Given the description of an element on the screen output the (x, y) to click on. 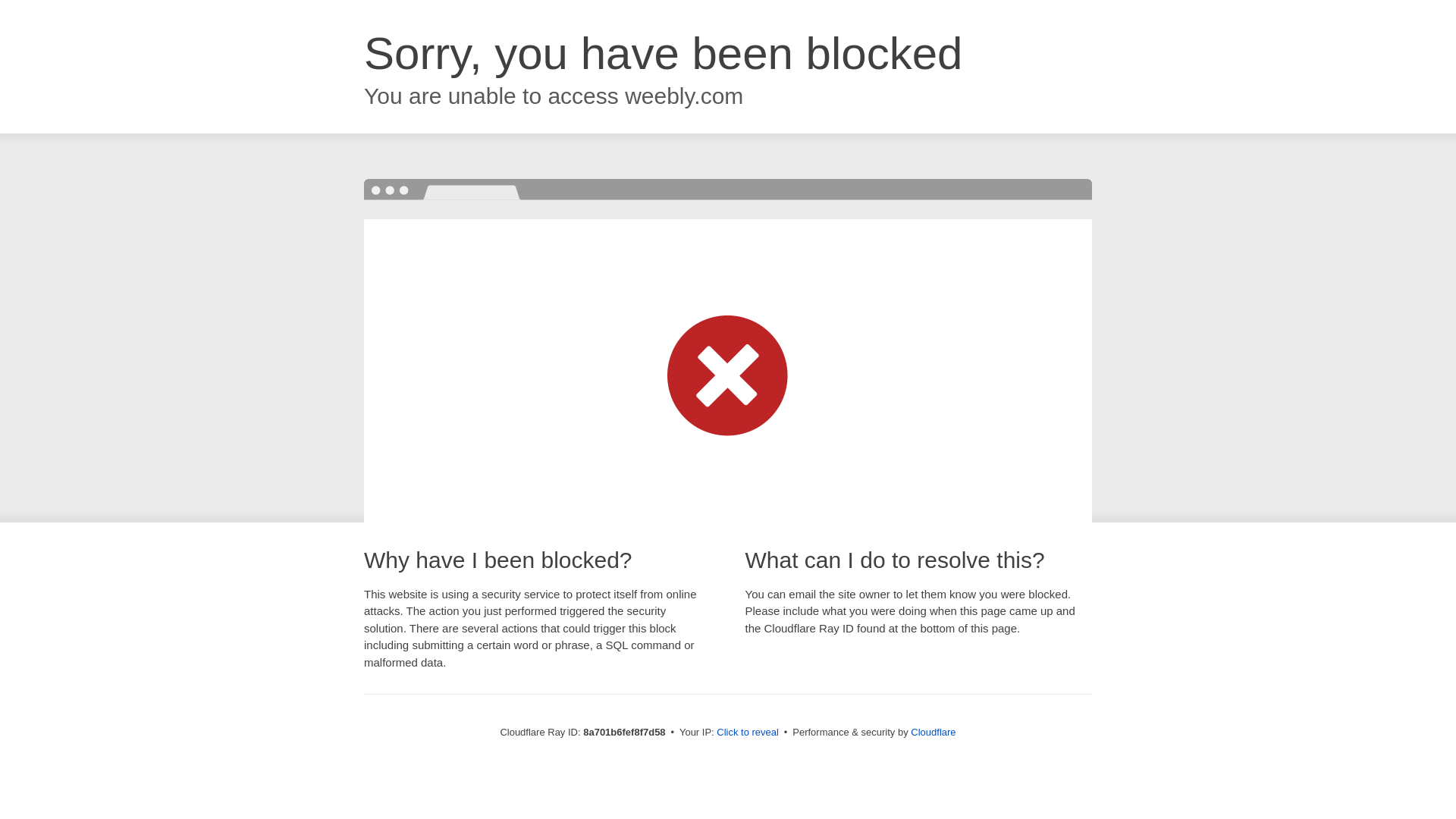
Click to reveal (747, 732)
Cloudflare (933, 731)
